Given the description of an element on the screen output the (x, y) to click on. 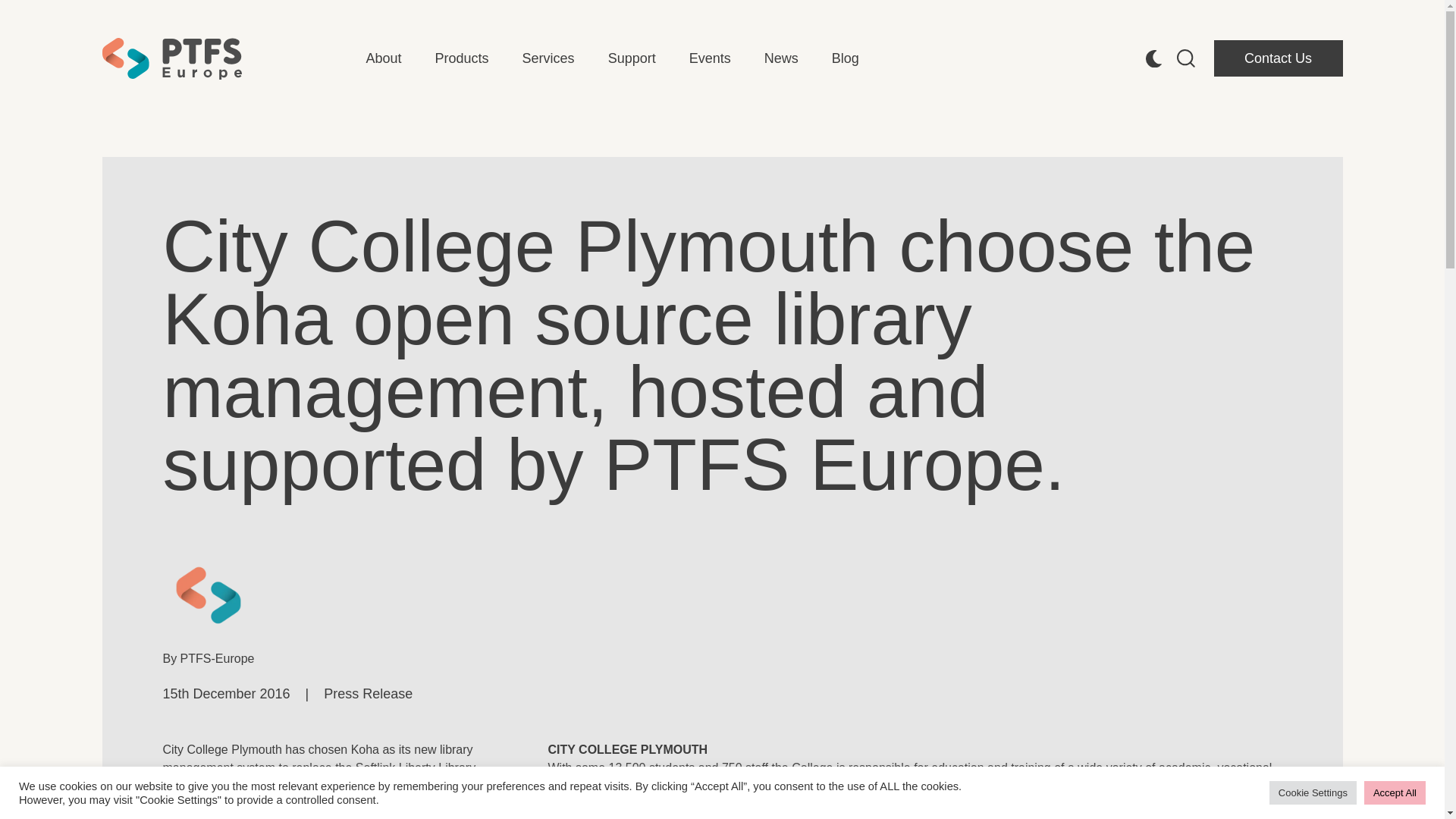
Blog (845, 58)
Events (709, 58)
Search (19, 9)
Support (632, 58)
News (780, 58)
About (383, 58)
Contact Us (1277, 58)
Products (462, 58)
Services (548, 58)
